Given the description of an element on the screen output the (x, y) to click on. 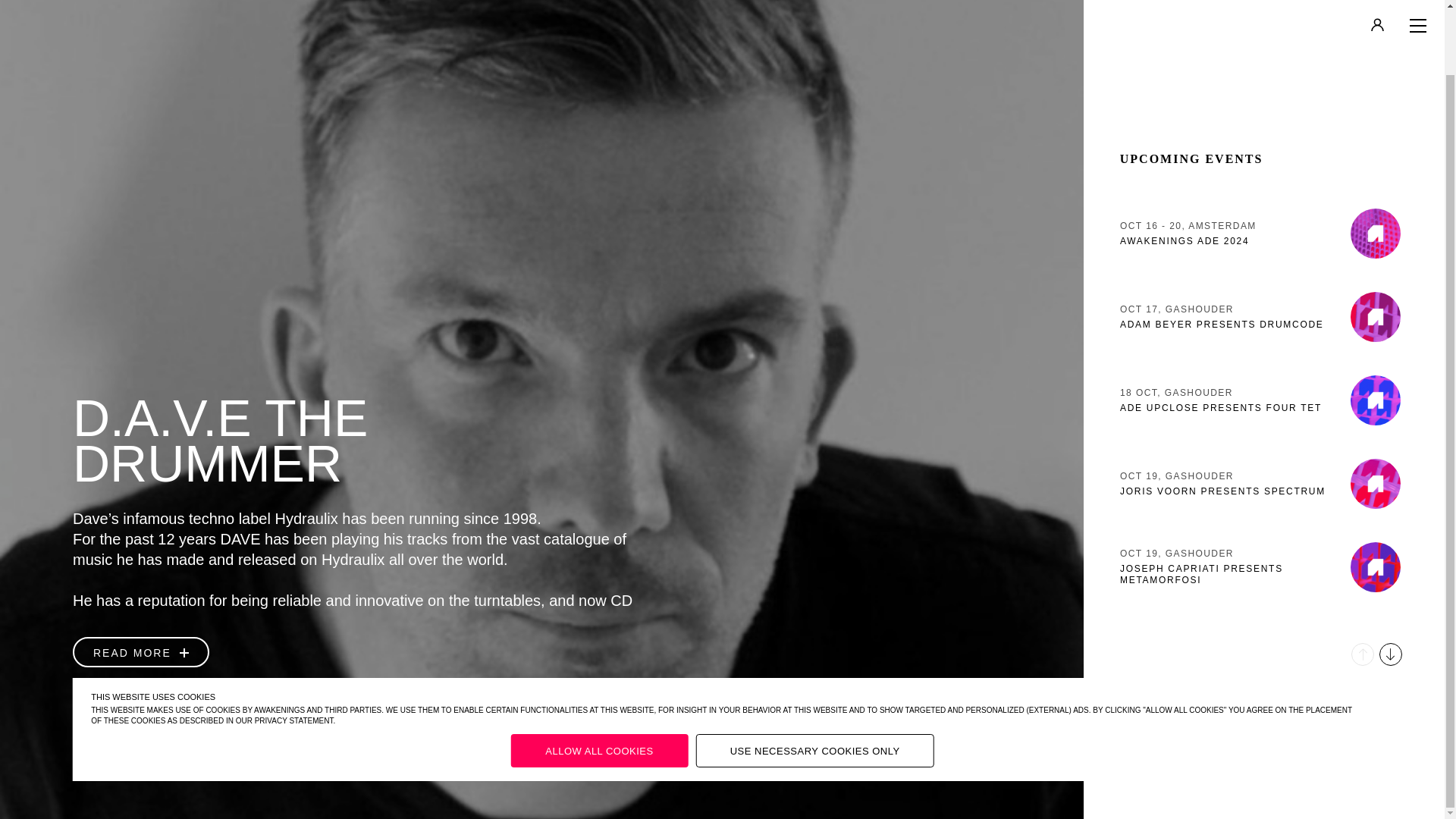
ALLOW ALL COOKIES (1263, 412)
USE NECESSARY COOKIES ONLY (1263, 329)
READ MORE (599, 679)
